Given the description of an element on the screen output the (x, y) to click on. 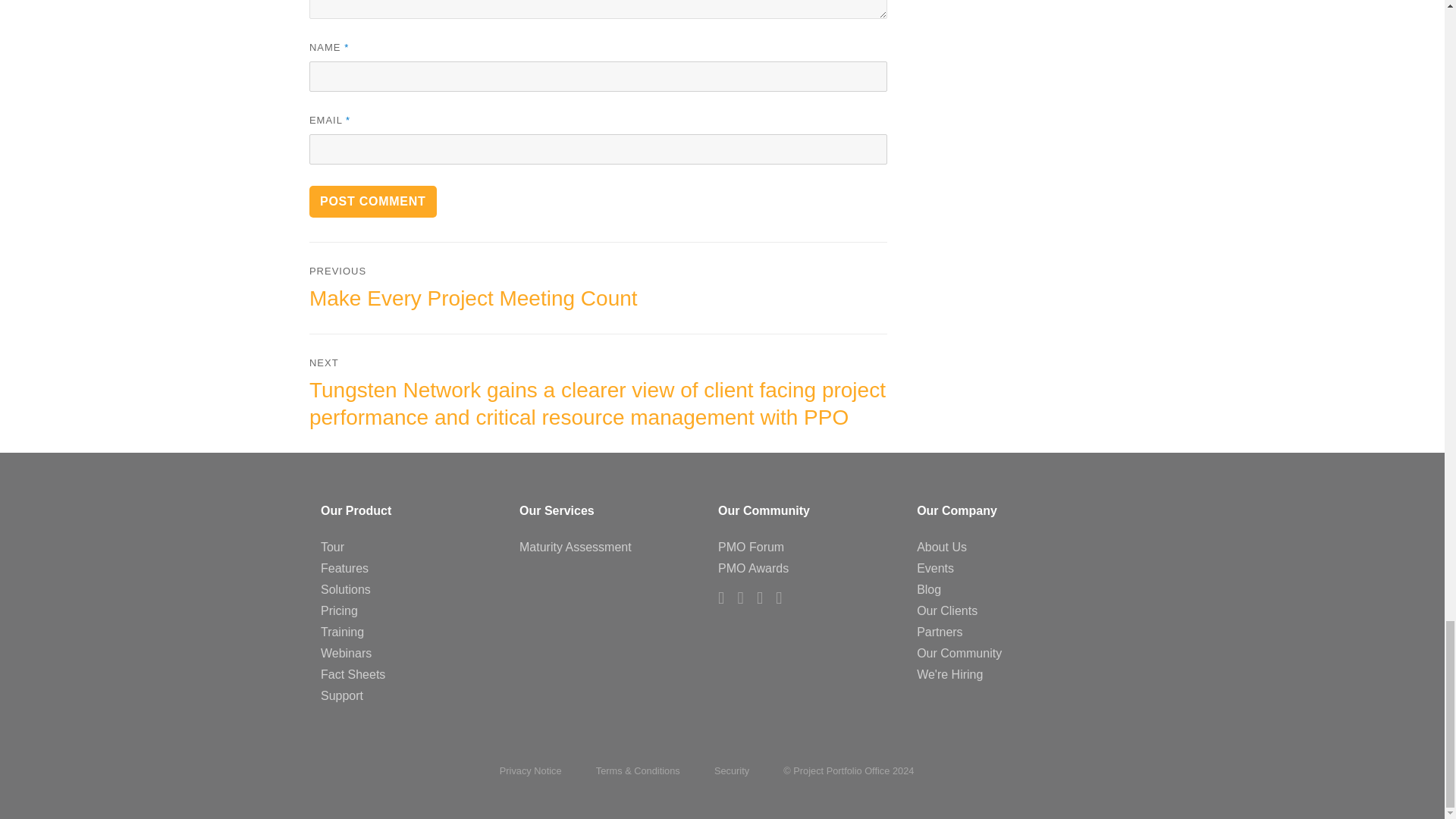
Post Comment (372, 201)
